Given the description of an element on the screen output the (x, y) to click on. 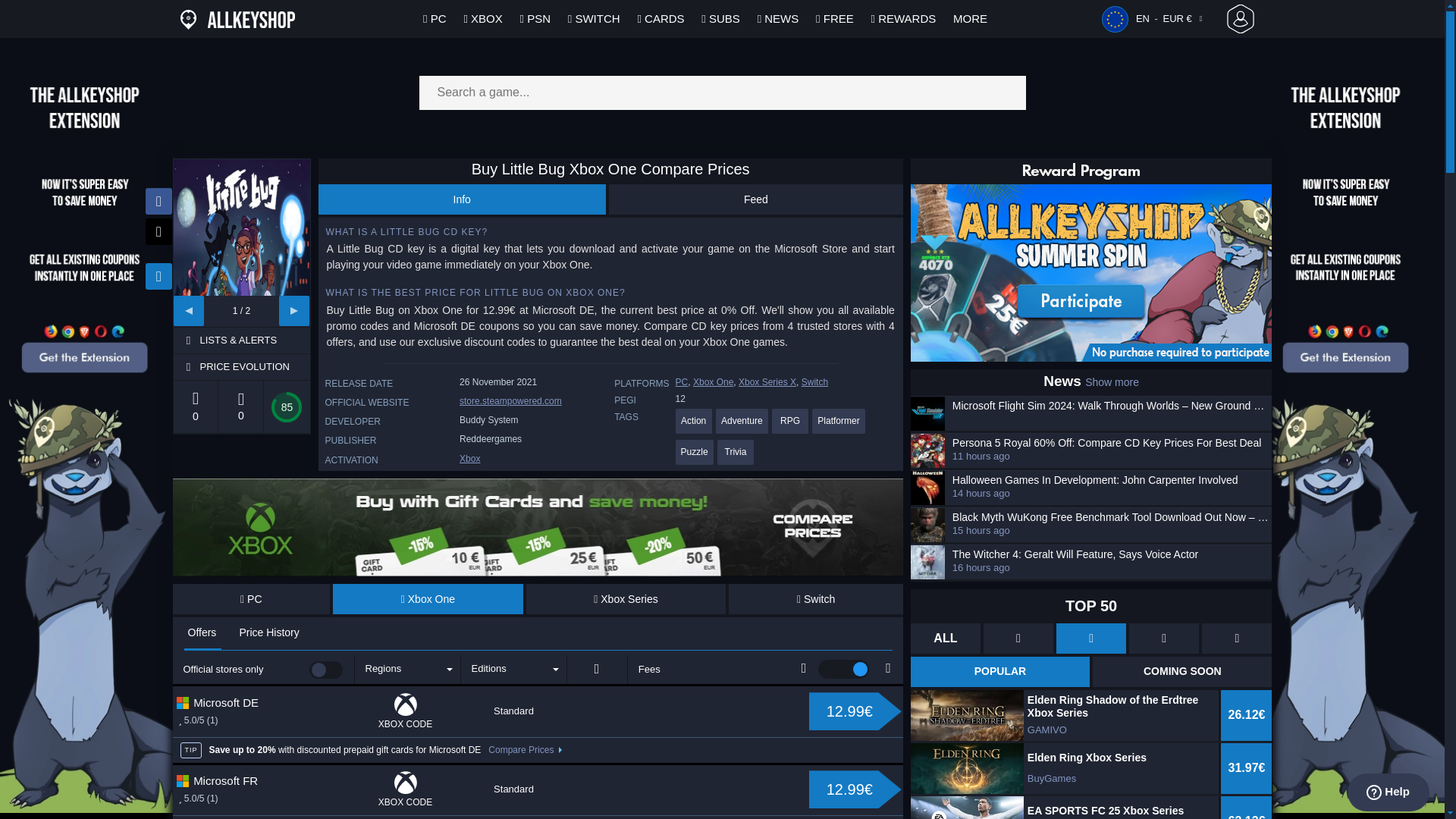
 Xbox Series X (625, 598)
Price evolution (252, 366)
 PC (251, 598)
Microsoft DE (236, 702)
SWITCH (594, 18)
XBOX (482, 18)
Xbox keys (470, 458)
 Switch (815, 598)
 Xbox One (427, 598)
PSN (535, 18)
